Given the description of an element on the screen output the (x, y) to click on. 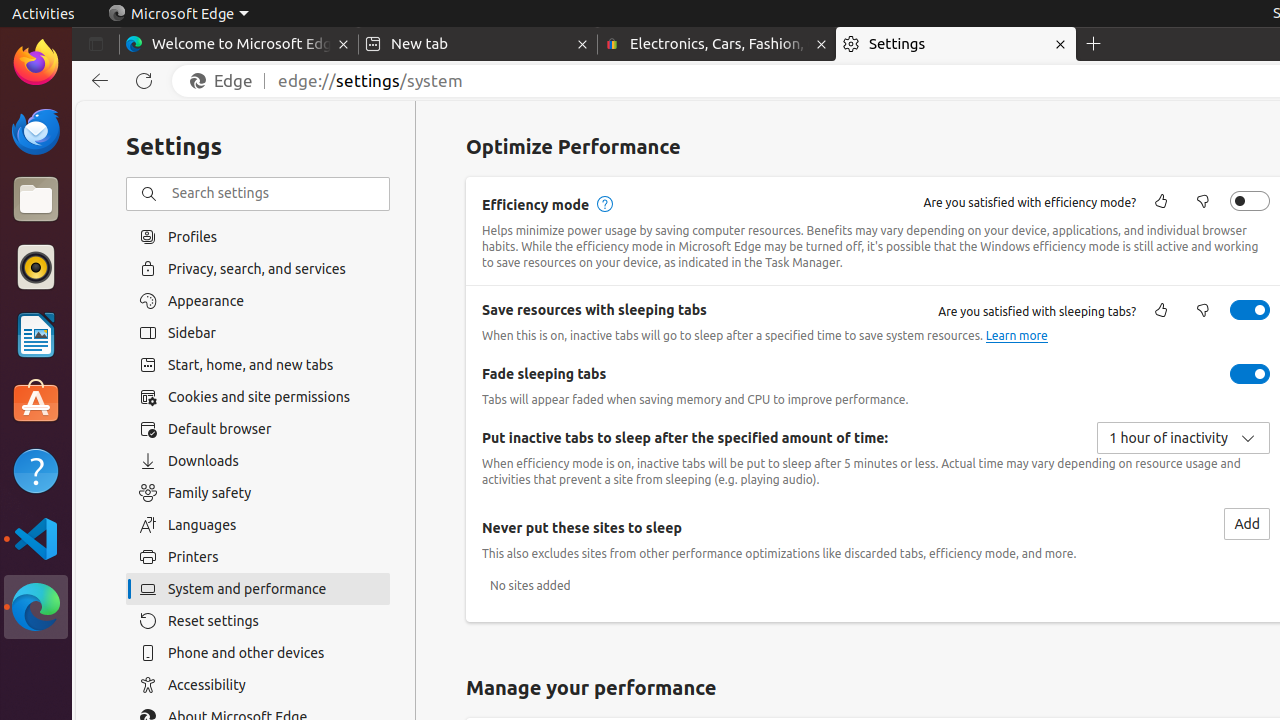
Printers Element type: tree-item (258, 557)
Accessibility Element type: tree-item (258, 685)
Back Element type: push-button (96, 81)
Edge Element type: push-button (226, 81)
Profiles Element type: tree-item (258, 236)
